Given the description of an element on the screen output the (x, y) to click on. 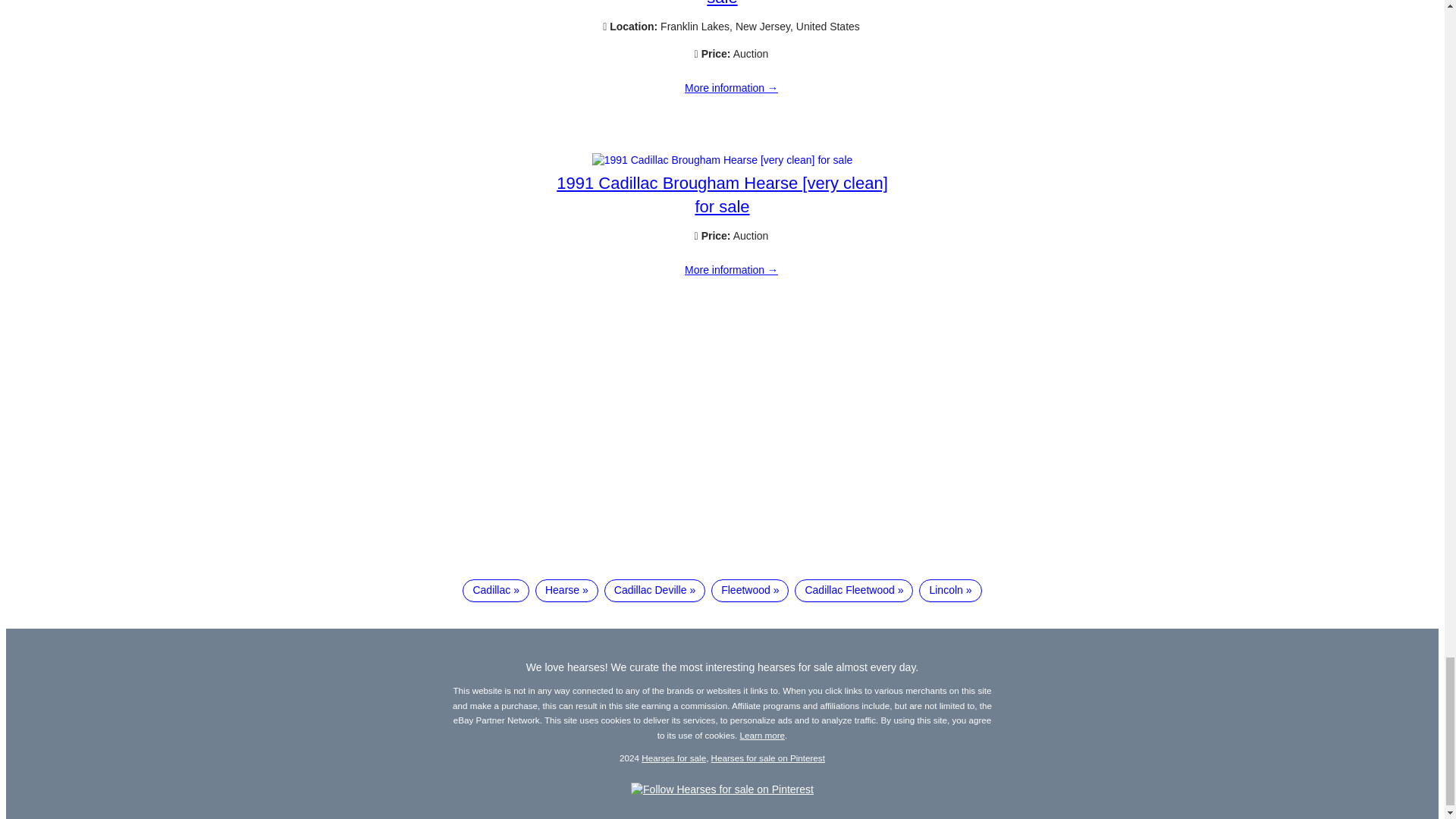
Learn more (762, 735)
Cadillac Deville (654, 590)
Follow Hearses for sale on Pinterest (721, 788)
Cadillac (496, 590)
Lincoln (949, 590)
Cadillac Fleetwood (853, 590)
Hearse (566, 590)
Fleetwood (750, 590)
Hearses for sale on Pinterest (768, 757)
Hearses for sale (674, 757)
